Given the description of an element on the screen output the (x, y) to click on. 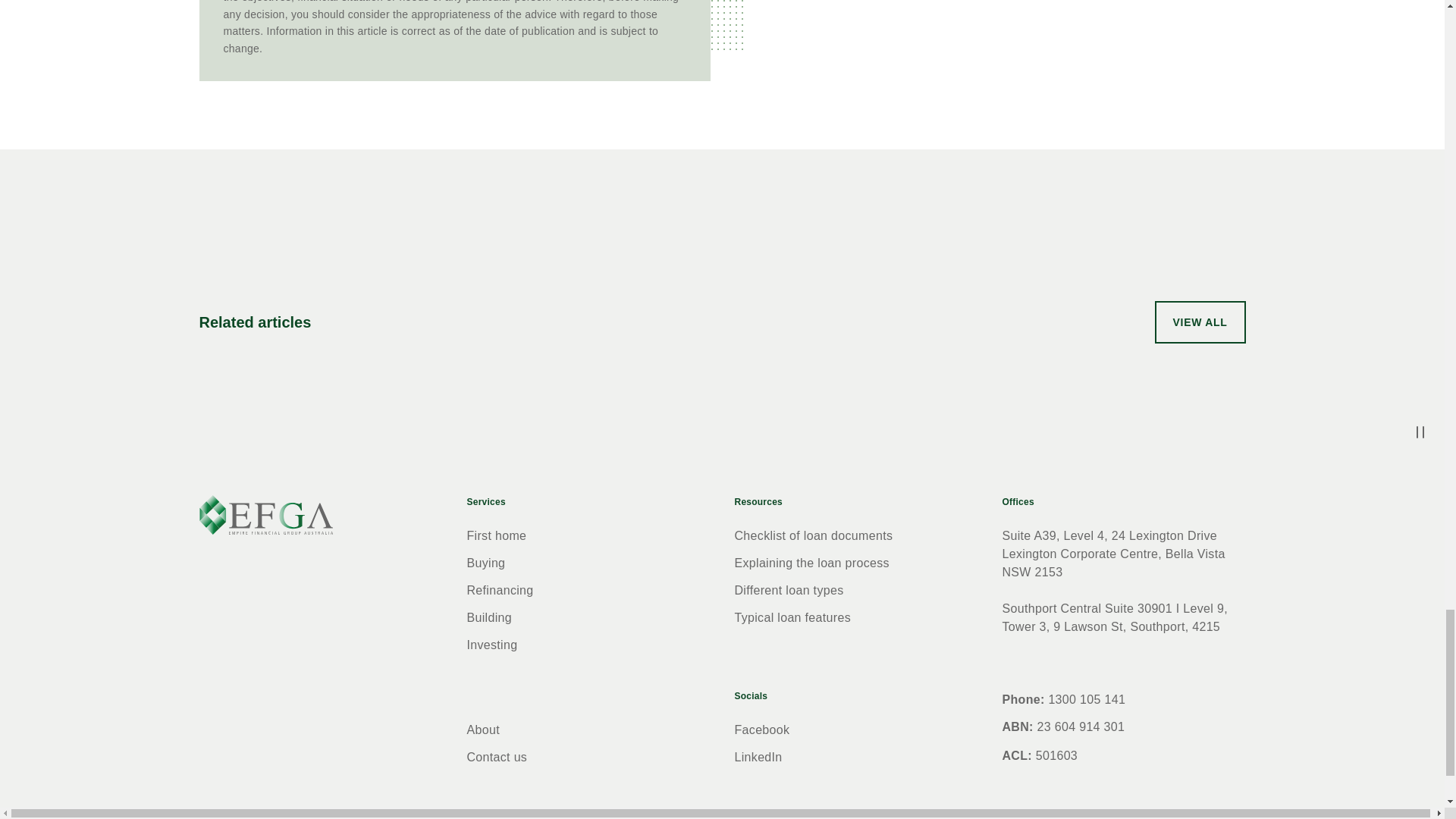
Buying (486, 563)
EFGA Logo (264, 515)
Explaining the loan process (810, 563)
First home (497, 536)
Typical loan features (791, 617)
Different loan types (788, 590)
Investing (492, 645)
Refinancing (500, 590)
Checklist of loan documents (812, 536)
1300 105 141 (1086, 698)
